Given the description of an element on the screen output the (x, y) to click on. 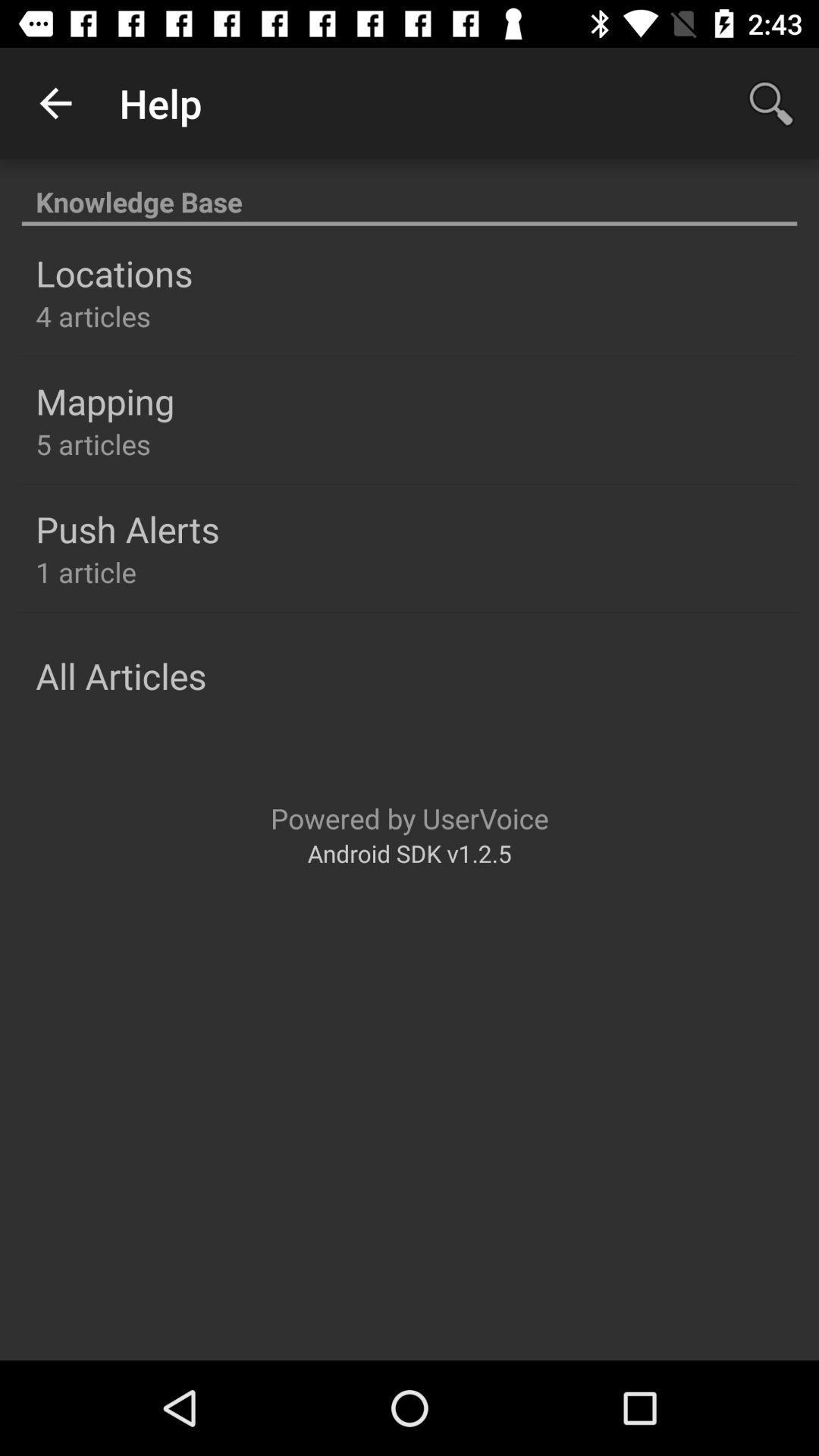
click item next to the help (55, 103)
